Given the description of an element on the screen output the (x, y) to click on. 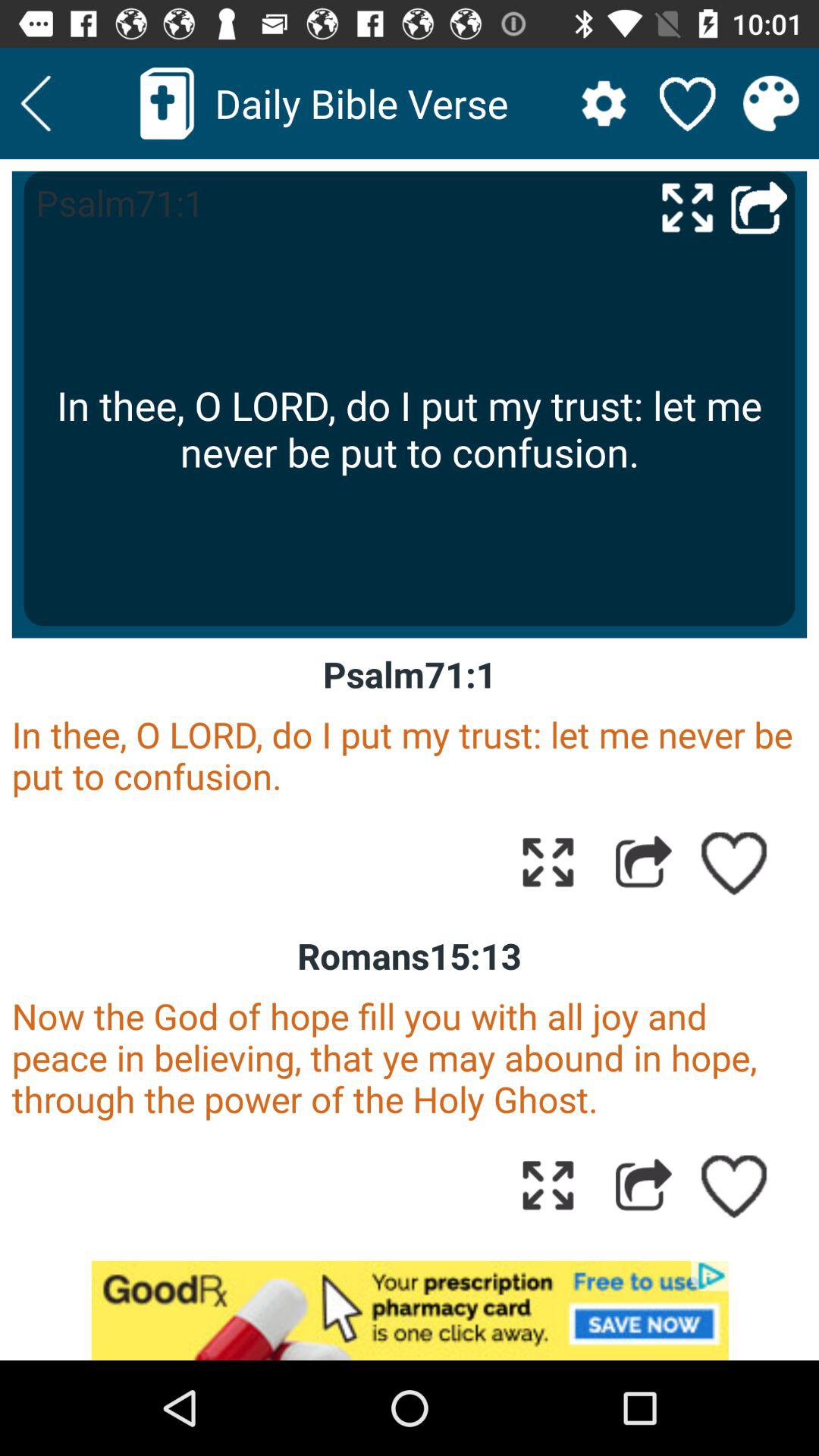
big page (687, 206)
